Given the description of an element on the screen output the (x, y) to click on. 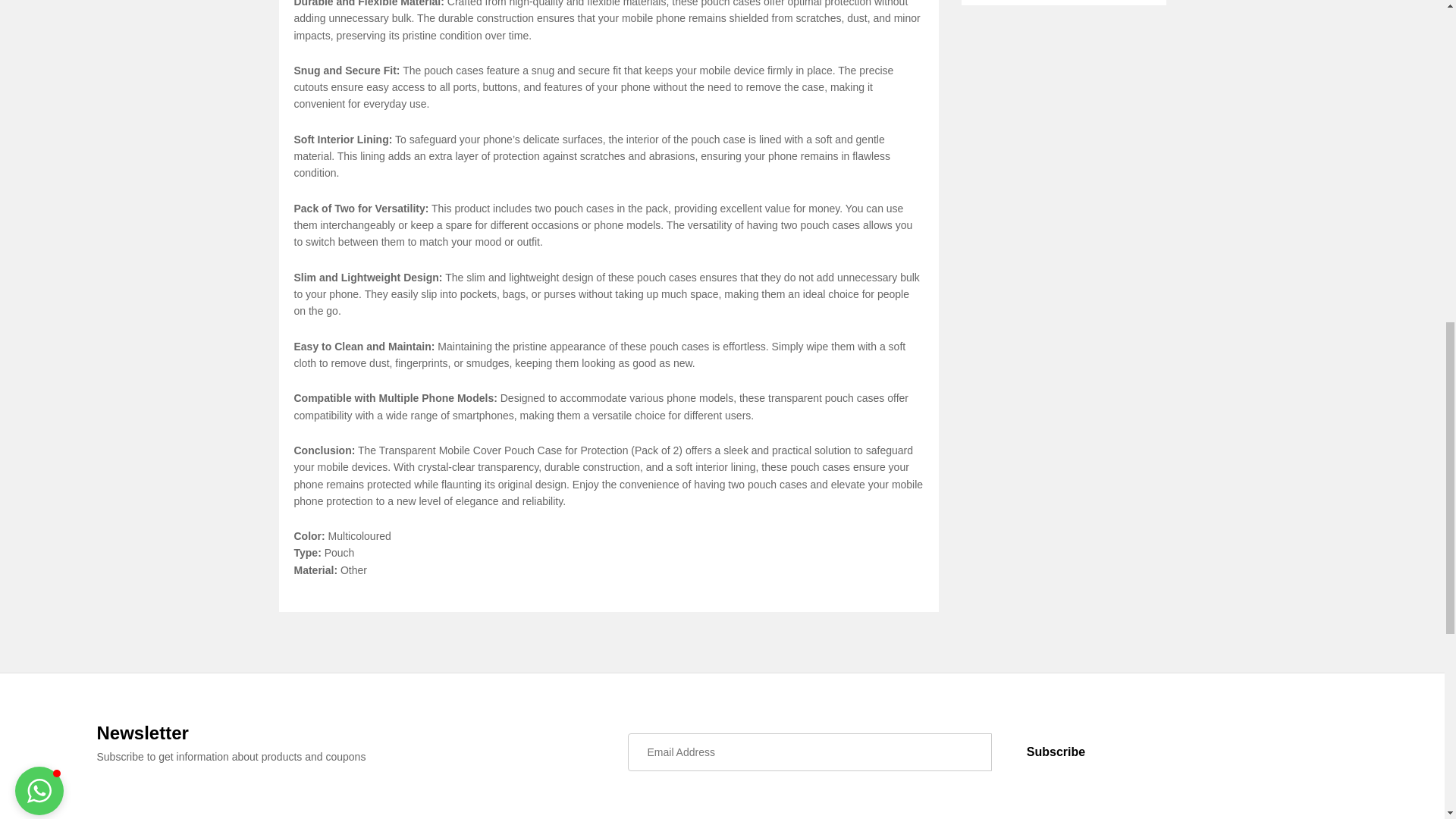
Subscribe (1056, 752)
